Given the description of an element on the screen output the (x, y) to click on. 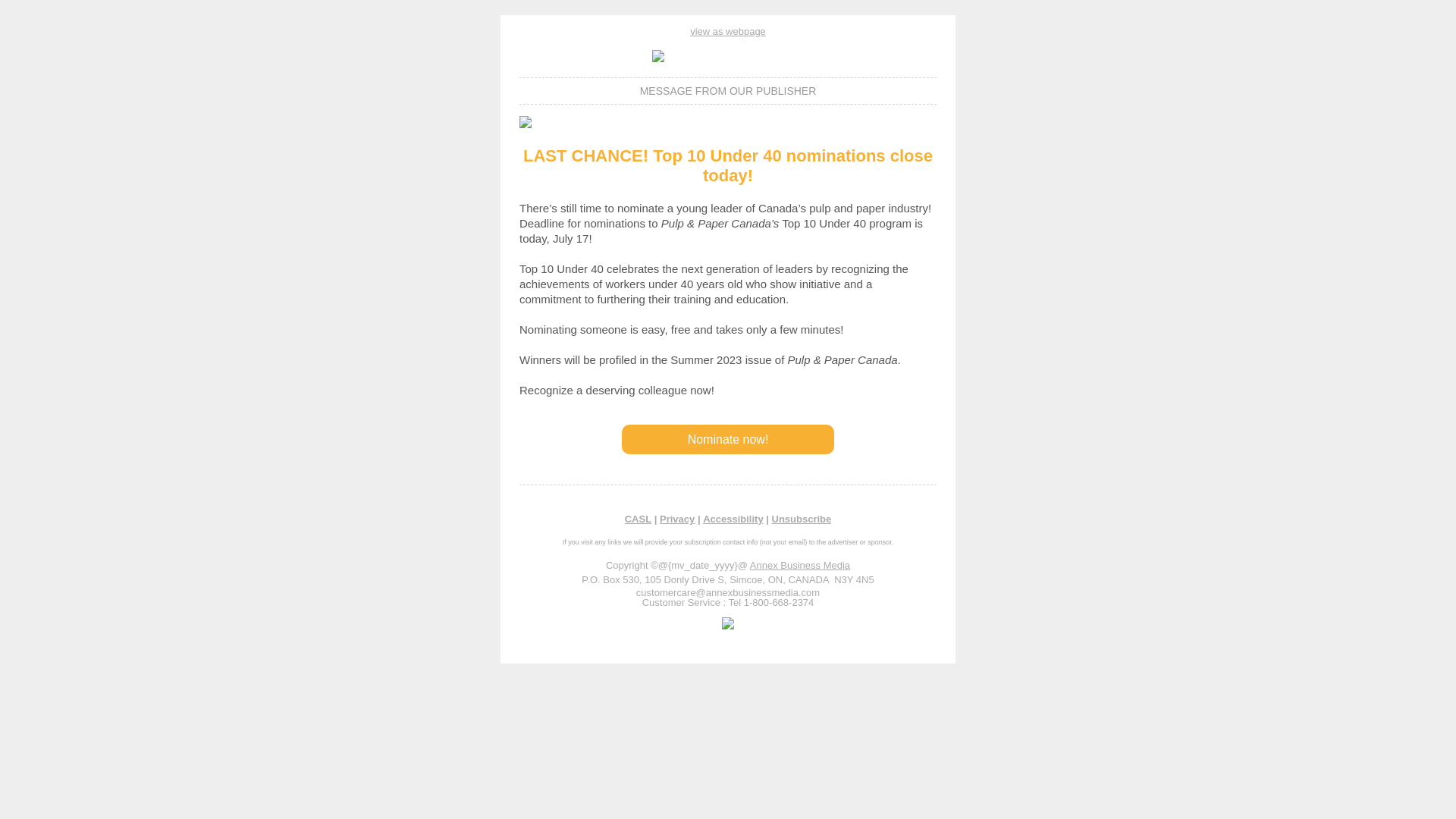
Annex Business Media (799, 564)
Nominate now! (727, 439)
Privacy (676, 518)
Unsubscribe (801, 518)
Accessibility (732, 518)
CASL (637, 518)
view as webpage (727, 30)
LAST CHANCE! Top 10 Under 40 nominations close today! (727, 165)
